Given the description of an element on the screen output the (x, y) to click on. 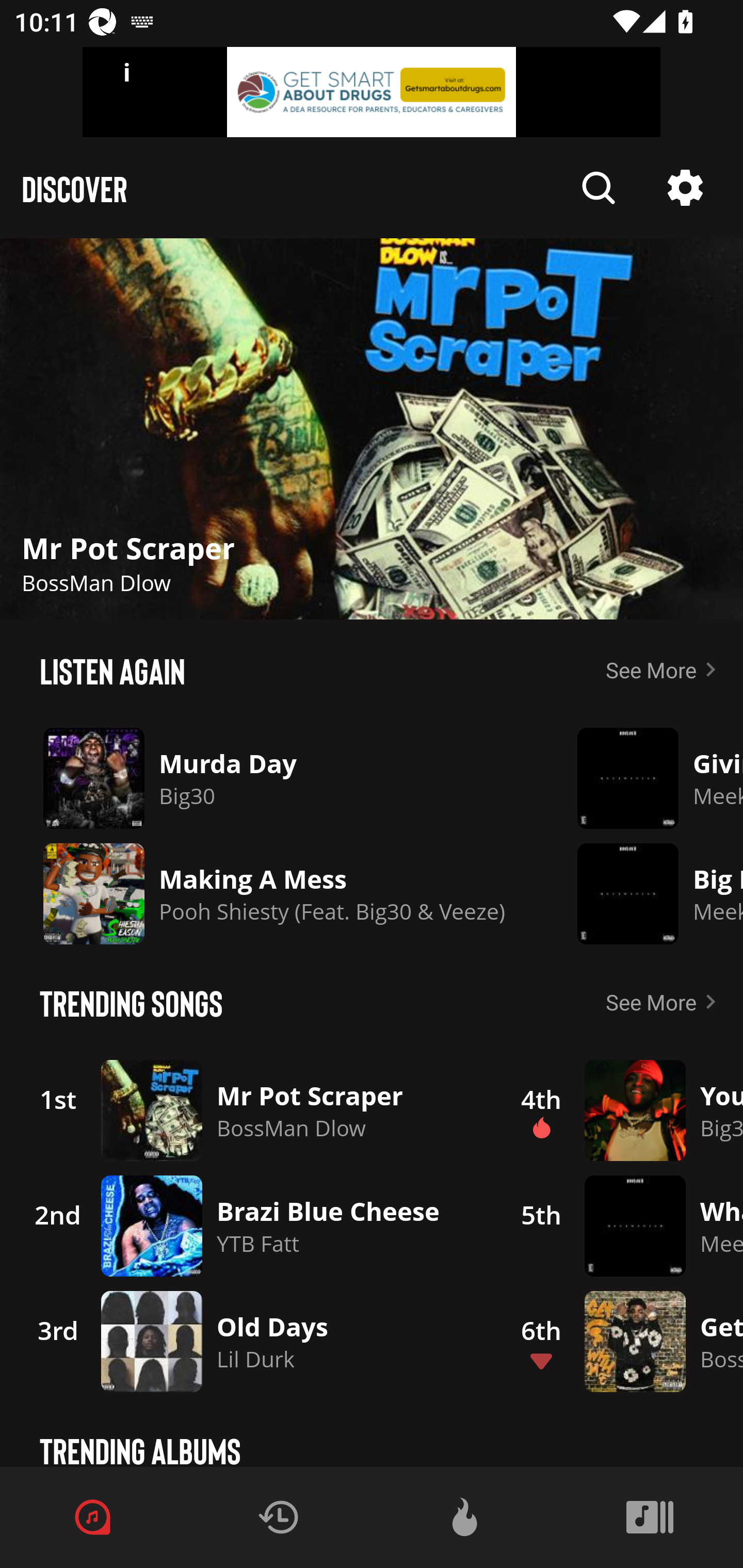
Description (598, 188)
Description (684, 188)
Description (371, 428)
See More (664, 669)
Description Murda Day Big30 (274, 778)
Description Giving Chanel Meek Mill (Feat. Future) (645, 778)
Description Big Boy Meek Mill (645, 893)
See More (664, 1001)
1st Description Mr Pot Scraper BossMan Dlow (248, 1110)
4th Description Description You Thought Big30 (620, 1110)
2nd Description Brazi Blue Cheese YTB Fatt (248, 1226)
3rd Description Old Days Lil Durk (248, 1341)
